Given the description of an element on the screen output the (x, y) to click on. 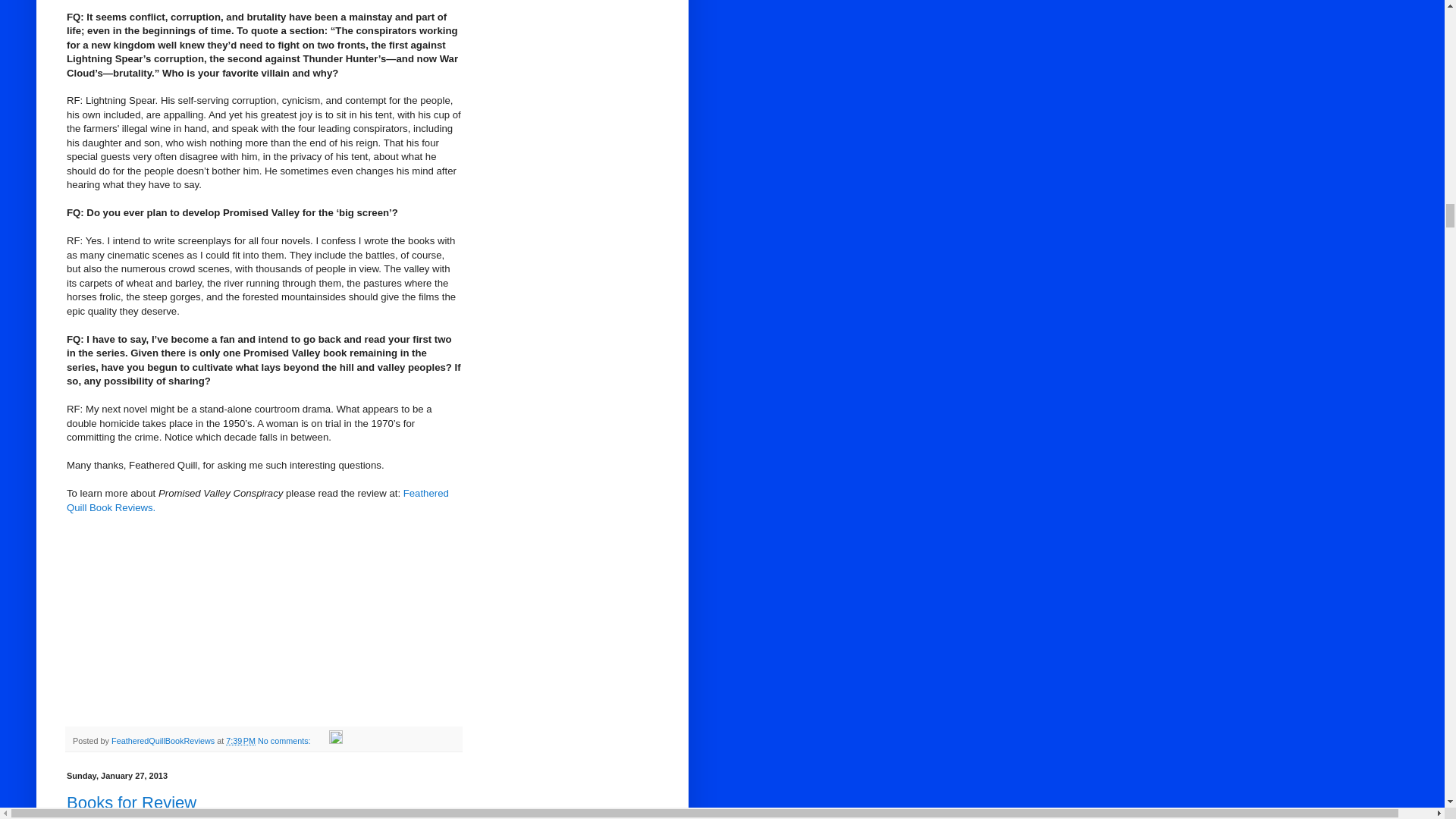
FeatheredQuillBookReviews (164, 740)
Feathered Quill Book Reviews. (257, 499)
